Given the description of an element on the screen output the (x, y) to click on. 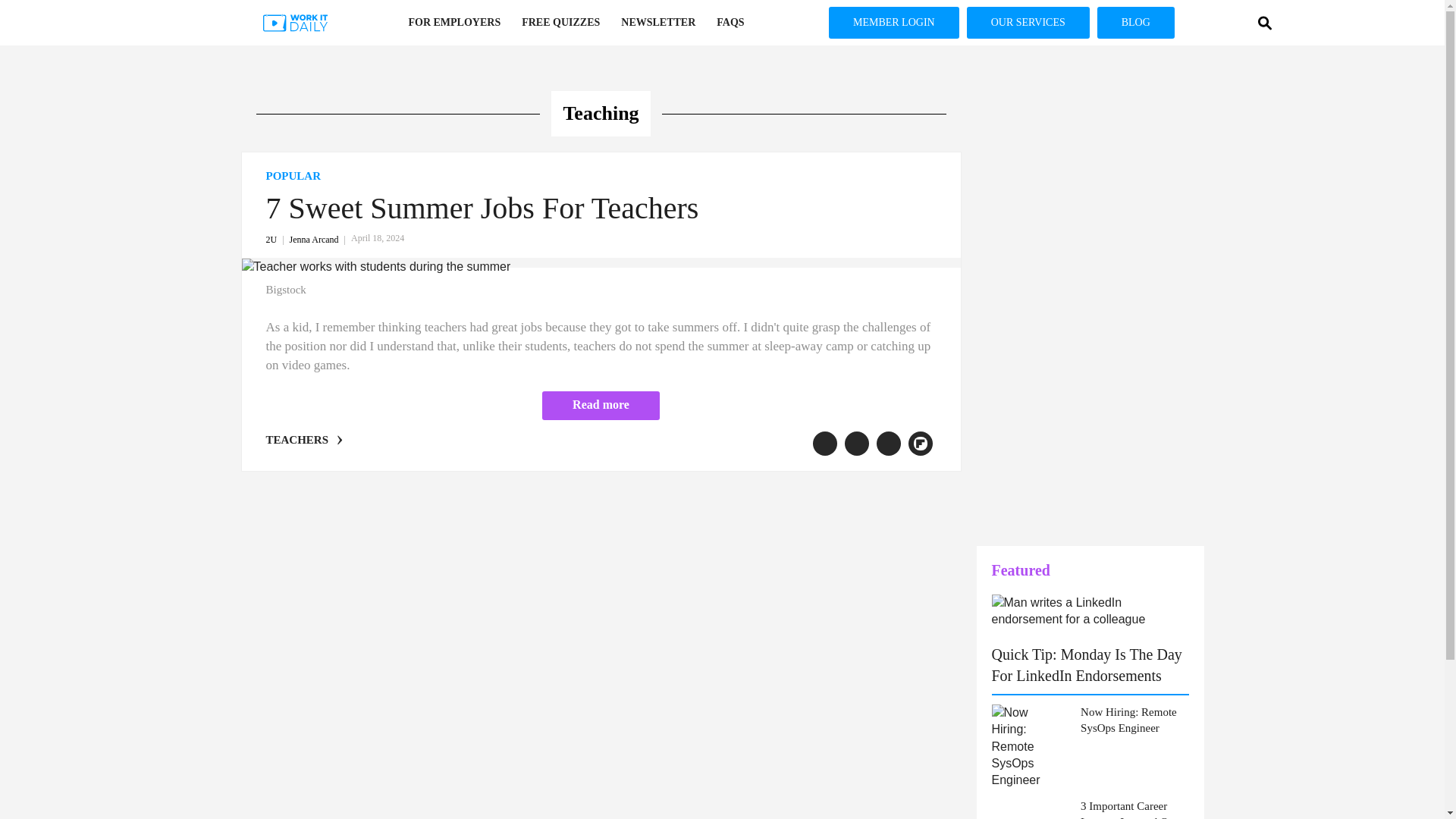
2U (276, 239)
Quick Tip: Monday Is The Day For LinkedIn Endorsements (1086, 664)
FAQS (730, 22)
NEWSLETTER (658, 22)
Jenna Arcand (319, 239)
Now Hiring: Remote SysOps Engineer (1134, 720)
BLOG (1135, 22)
FREE QUIZZES (560, 22)
FOR EMPLOYERS (454, 22)
MEMBER LOGIN (893, 22)
POPULAR (600, 176)
TEACHERS (296, 439)
7 Sweet Summer Jobs For Teachers (481, 207)
OUR SERVICES (1027, 22)
